Given the description of an element on the screen output the (x, y) to click on. 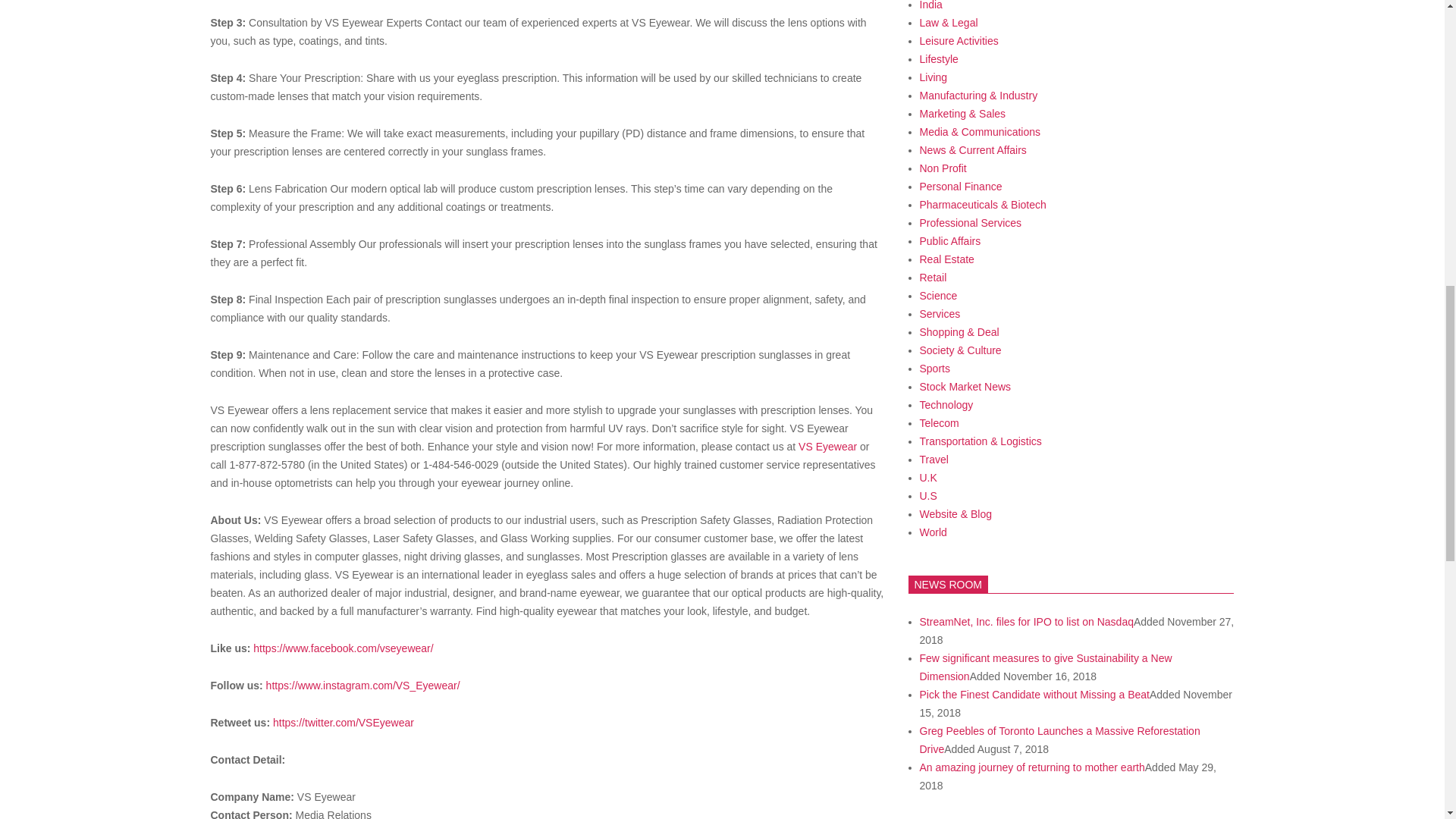
VS Eyewear (827, 446)
